Given the description of an element on the screen output the (x, y) to click on. 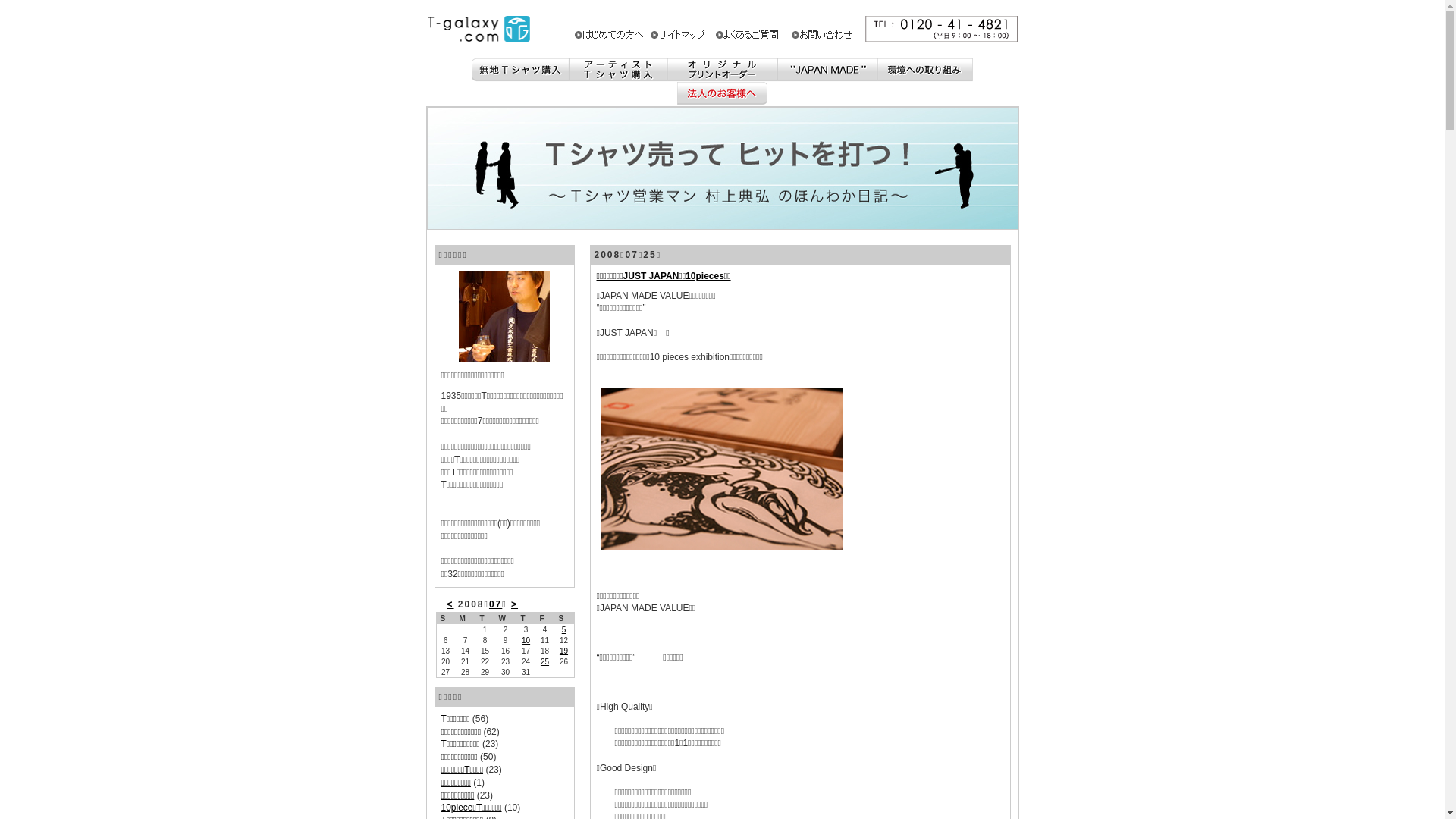
07 Element type: text (495, 604)
5 Element type: text (563, 629)
< Element type: text (450, 604)
19 Element type: text (563, 650)
25 Element type: text (544, 661)
10 Element type: text (525, 640)
> Element type: text (514, 604)
